Given the description of an element on the screen output the (x, y) to click on. 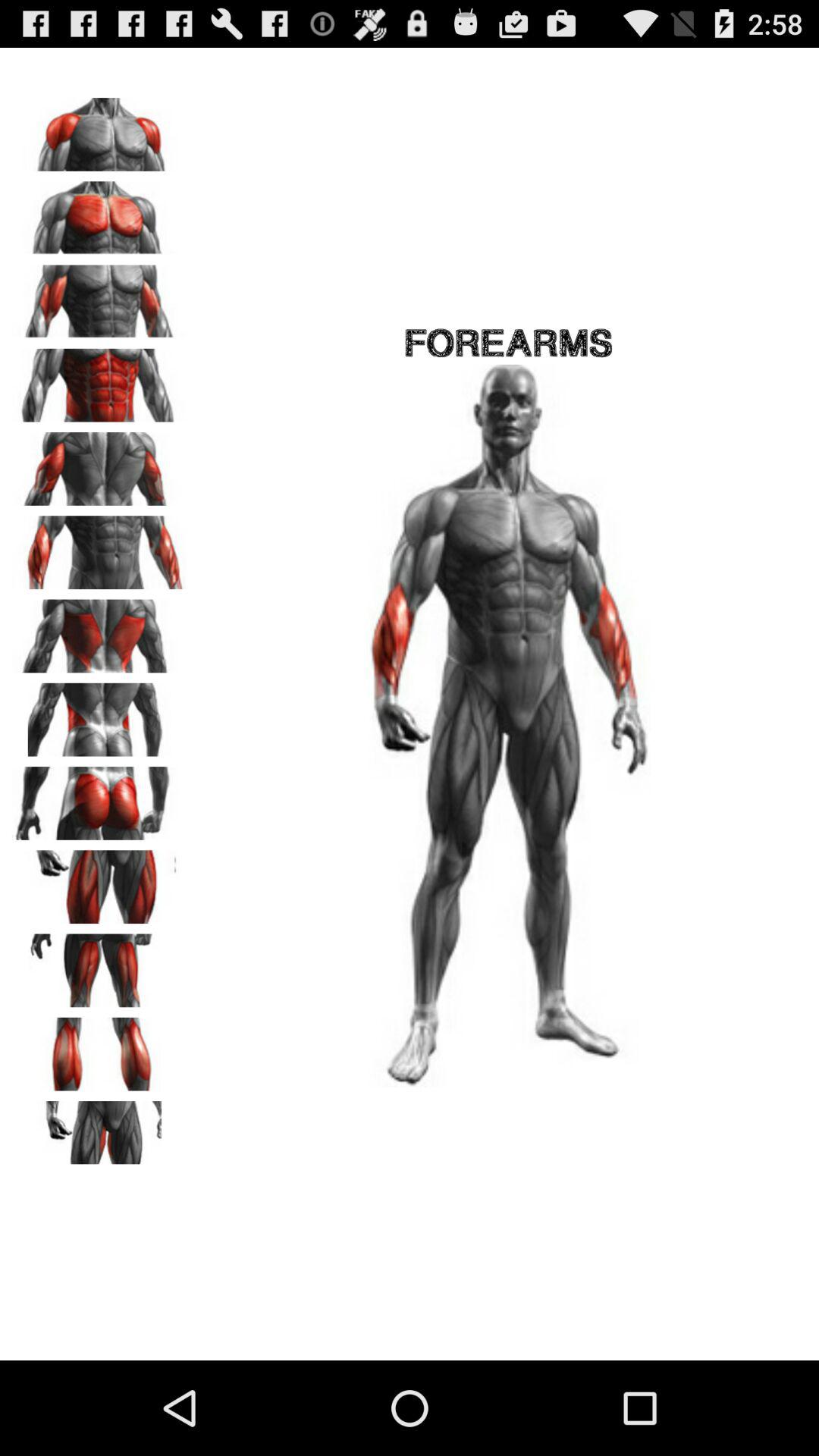
select quads (99, 881)
